Given the description of an element on the screen output the (x, y) to click on. 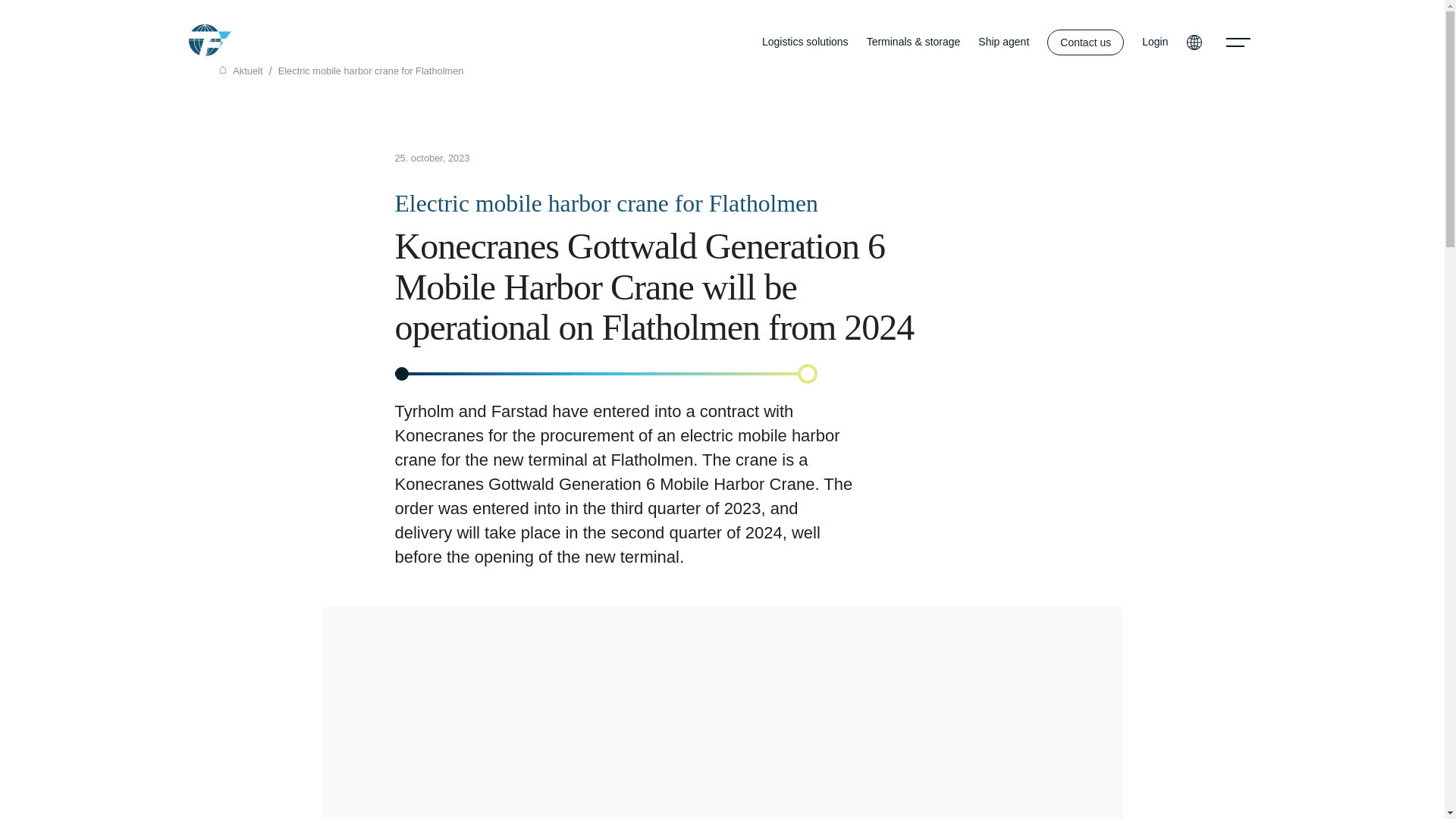
Logistics solutions (804, 42)
Contact us (1085, 42)
Publisert 25. October, 2023 (758, 158)
Electric mobile harbor crane for Flatholmen (371, 70)
Login (1154, 42)
Aktuelt (247, 70)
Ship agent (1003, 42)
